Given the description of an element on the screen output the (x, y) to click on. 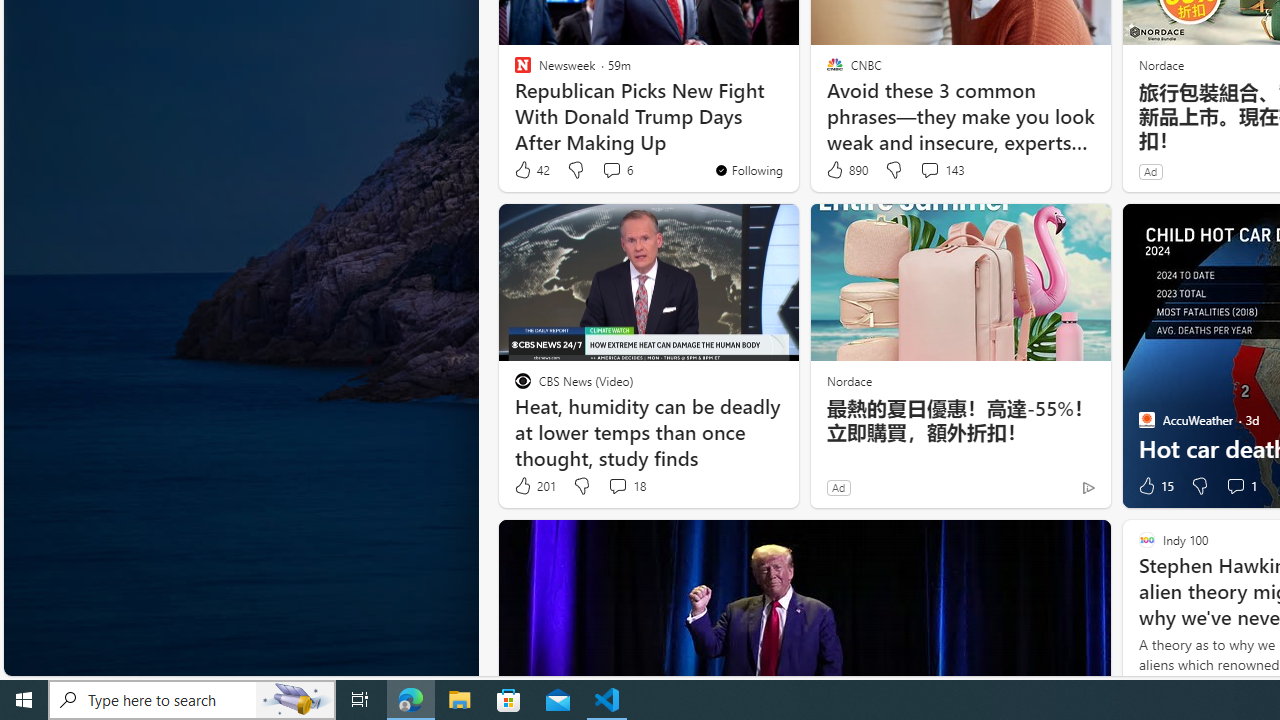
View comments 1 Comment (1234, 485)
201 Like (534, 485)
You're following Newsweek (747, 169)
View comments 143 Comment (929, 169)
42 Like (531, 170)
Ad (838, 487)
View comments 143 Comment (941, 170)
Ad Choice (1087, 487)
View comments 18 Comment (617, 485)
View comments 18 Comment (626, 485)
15 Like (1154, 485)
View comments 1 Comment (1240, 485)
View comments 6 Comment (611, 169)
View comments 6 Comment (616, 170)
